Given the description of an element on the screen output the (x, y) to click on. 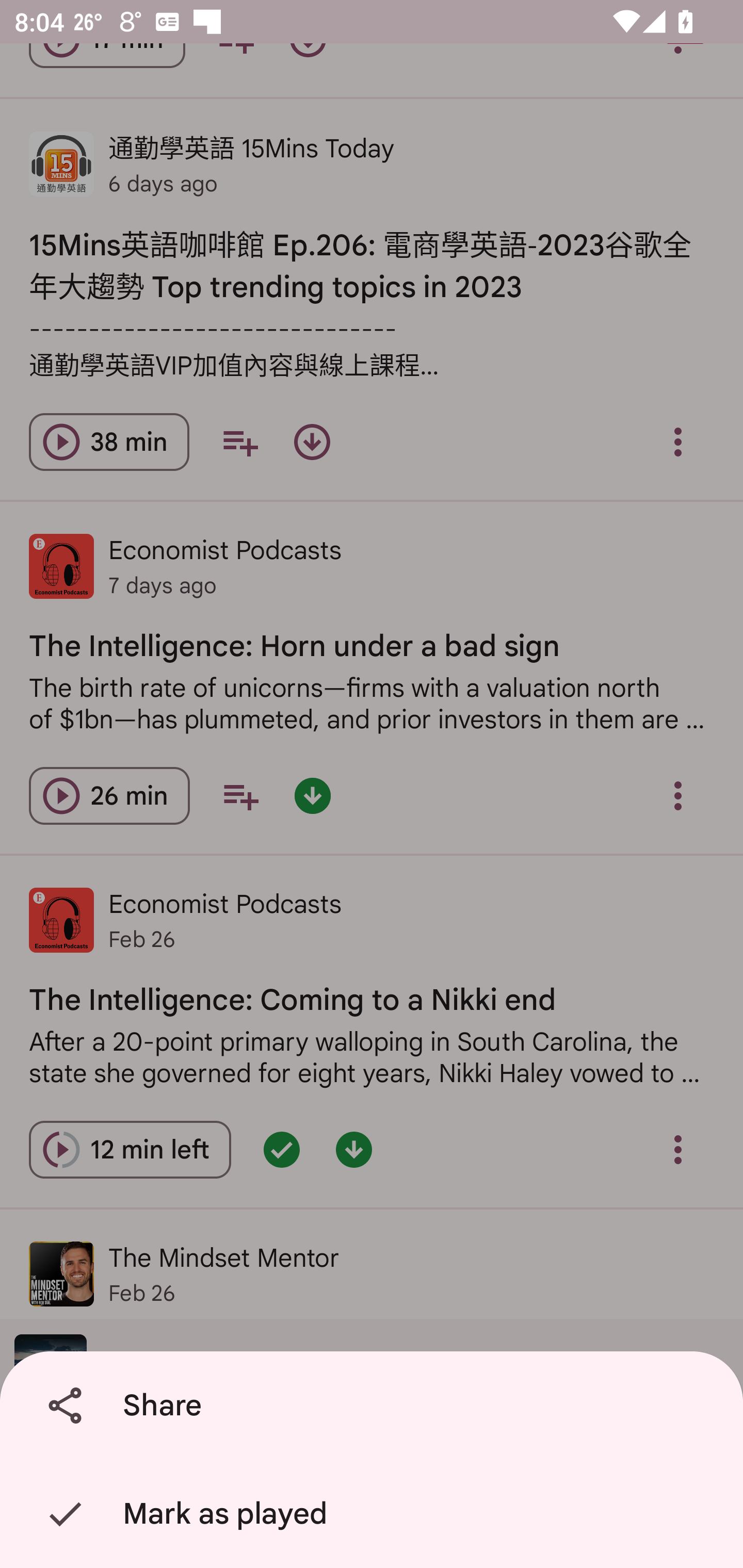
Share (375, 1405)
Mark as played (375, 1513)
